Given the description of an element on the screen output the (x, y) to click on. 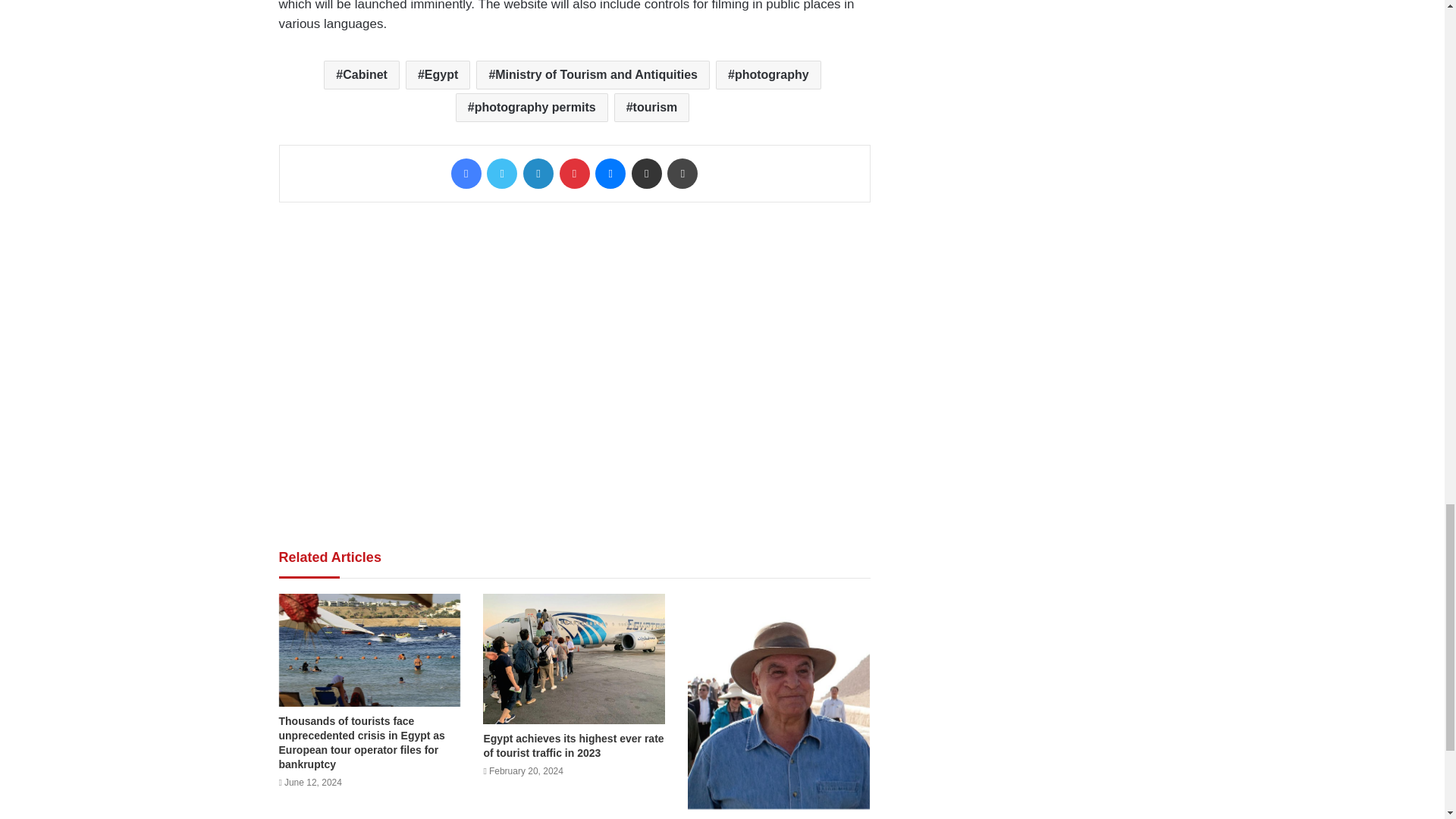
Facebook (466, 173)
Ministry of Tourism and Antiquities (593, 74)
LinkedIn (537, 173)
Pinterest (574, 173)
photography (768, 74)
Facebook (466, 173)
LinkedIn (537, 173)
Pinterest (574, 173)
Share via Email (646, 173)
tourism (652, 107)
photography permits (531, 107)
Messenger (610, 173)
Twitter (501, 173)
Twitter (501, 173)
Egypt (438, 74)
